Given the description of an element on the screen output the (x, y) to click on. 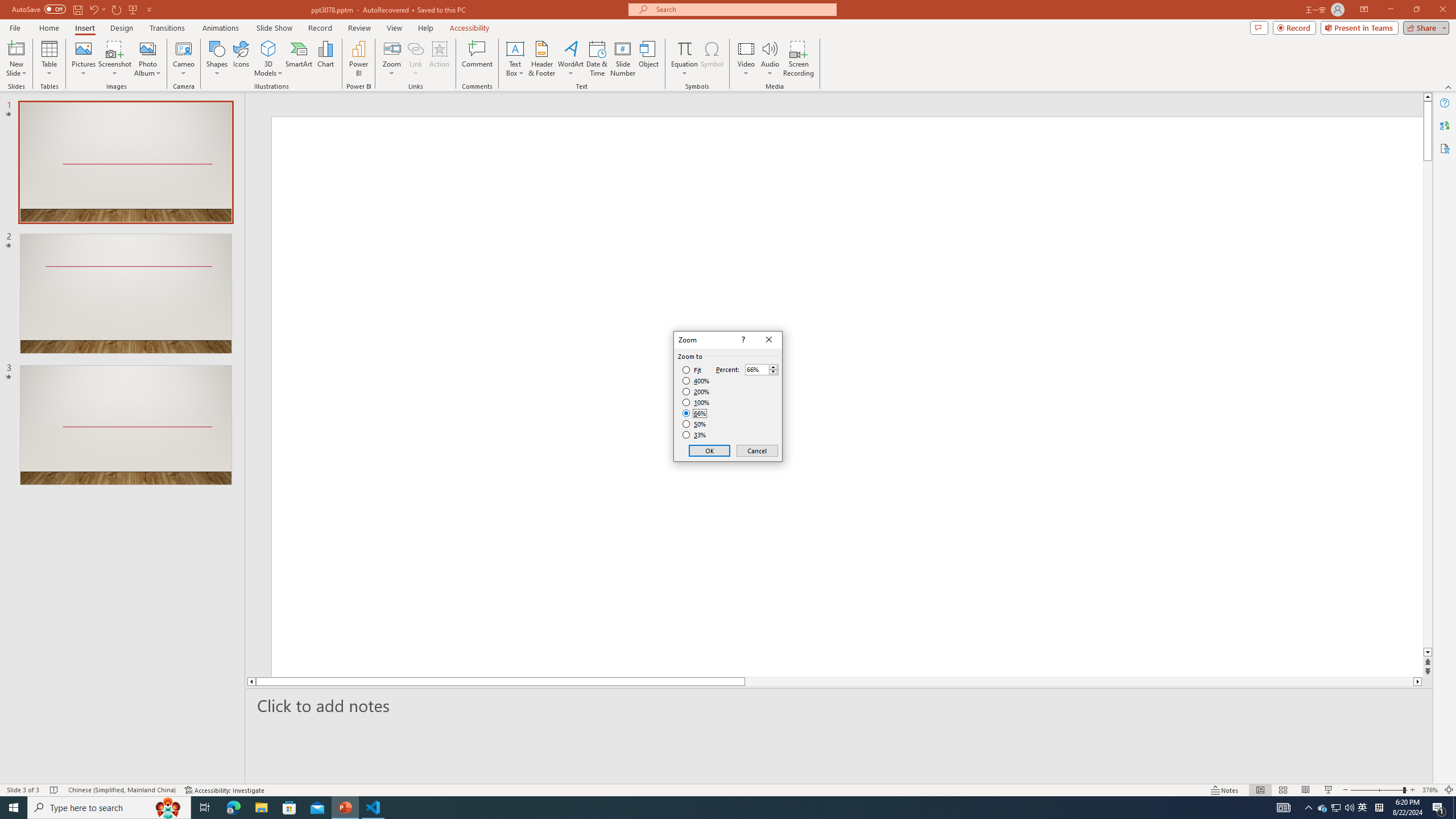
3D Models (268, 58)
AutomationID: 4105 (1283, 807)
Icons (240, 58)
200% (1335, 807)
Text Box (696, 391)
User Promoted Notification Area (515, 58)
Action (1336, 807)
Task View (439, 58)
